Given the description of an element on the screen output the (x, y) to click on. 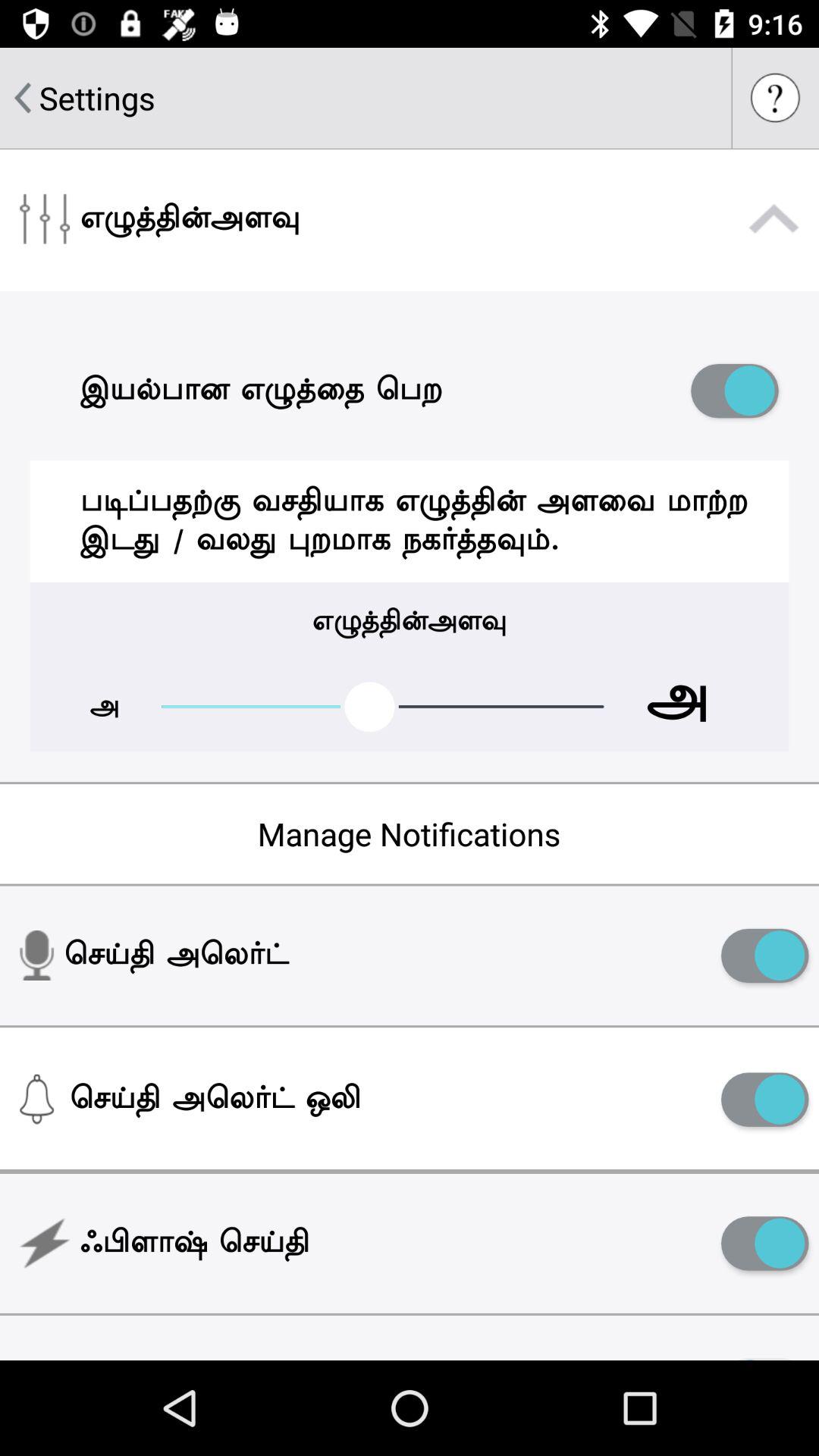
help link (775, 97)
